Given the description of an element on the screen output the (x, y) to click on. 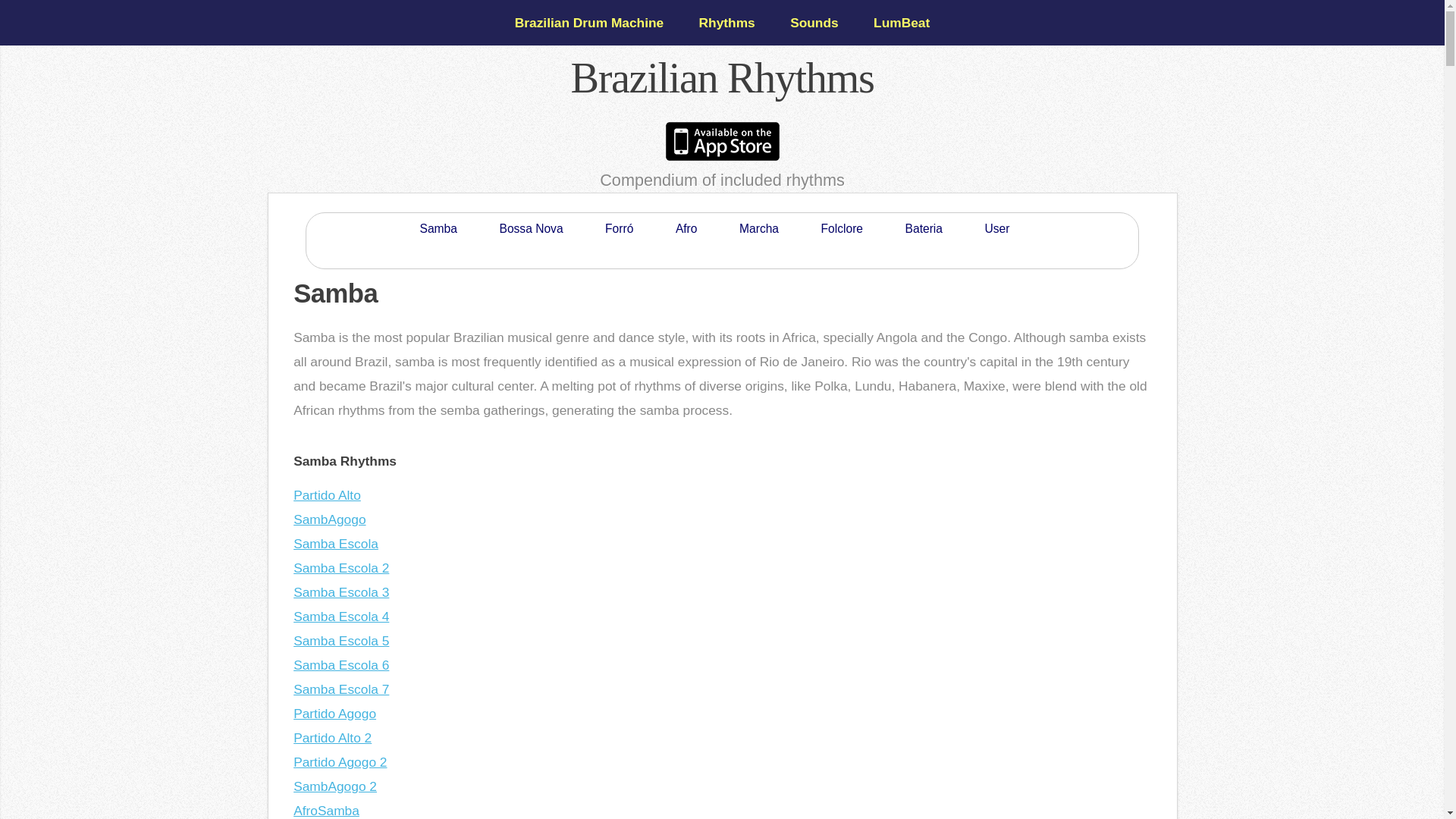
Samba Escola 2 (341, 567)
Partido Alto (327, 494)
SambAgogo 2 (335, 785)
Samba Escola 4 (341, 616)
AfroSamba (326, 810)
Samba Escola (336, 543)
Samba Escola 5 (341, 640)
Samba (437, 228)
SambAgogo (329, 519)
Bateria (924, 228)
